Given the description of an element on the screen output the (x, y) to click on. 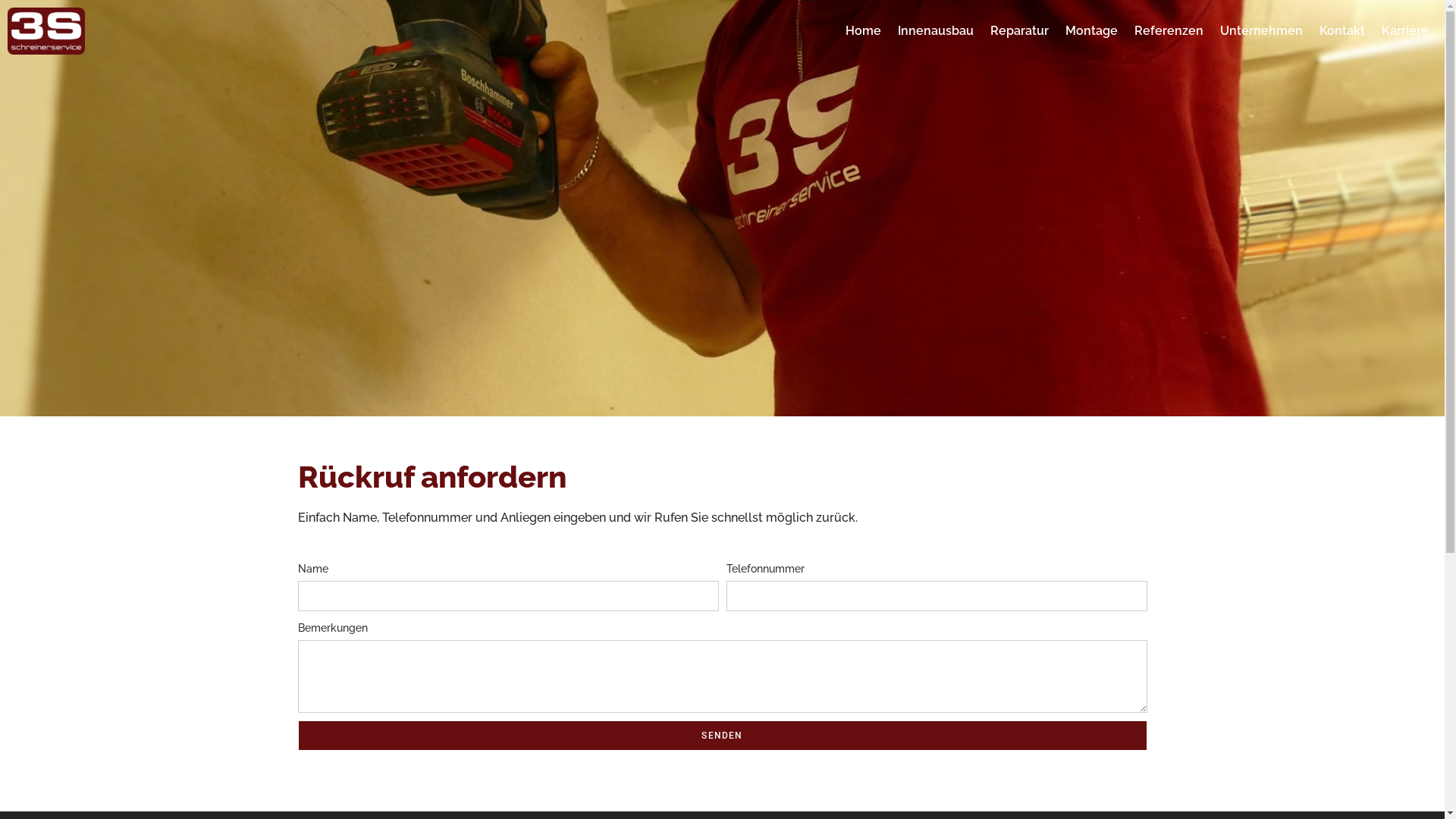
Referenzen Element type: text (1168, 30)
Reparatur Element type: text (1019, 30)
Unternehmen Element type: text (1261, 30)
SENDEN Element type: text (721, 735)
Karriere Element type: text (1405, 30)
Home Element type: text (863, 30)
Innenausbau Element type: text (935, 30)
Montage Element type: text (1091, 30)
Kontakt Element type: text (1342, 30)
